Given the description of an element on the screen output the (x, y) to click on. 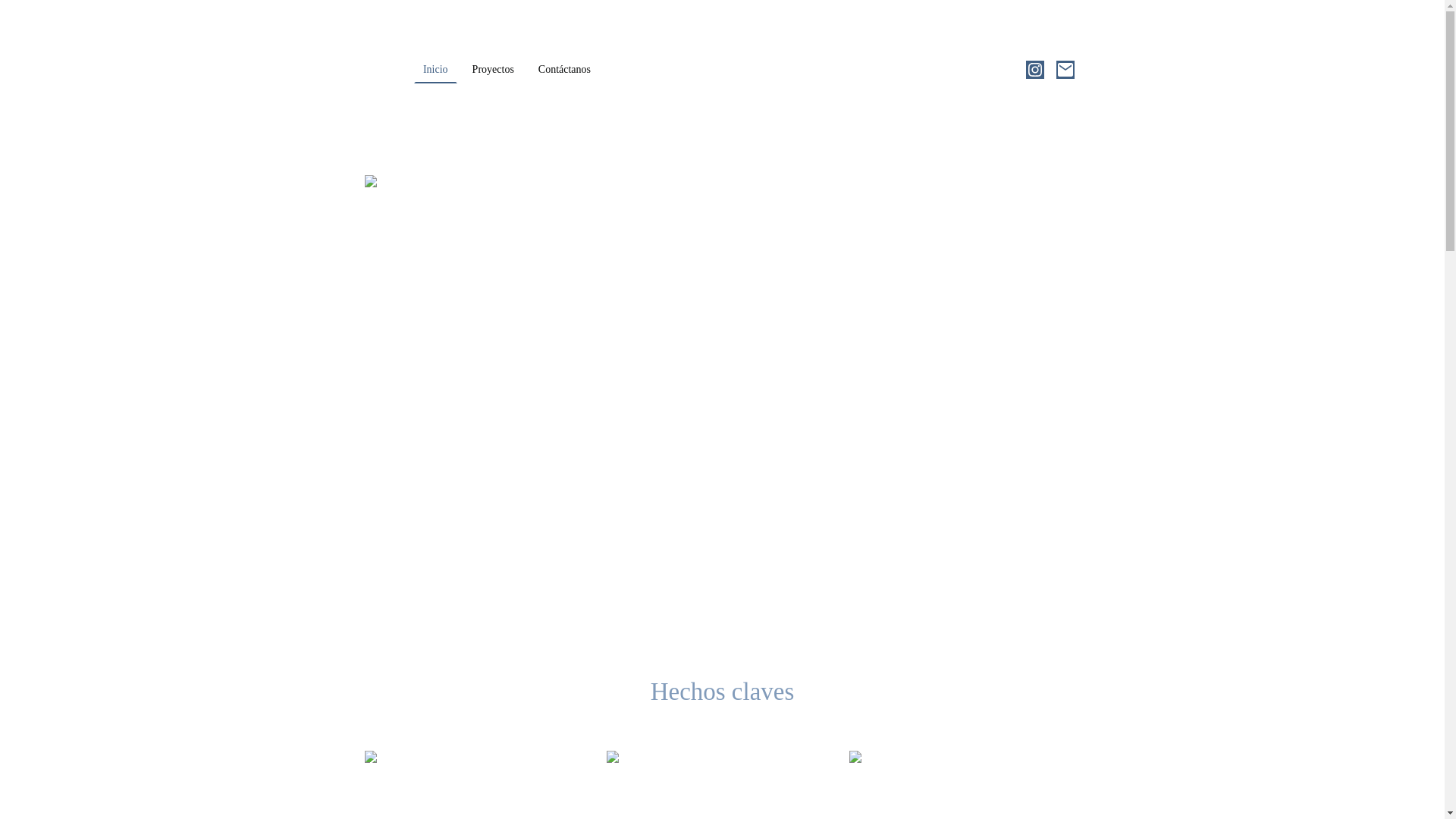
Proyectos Element type: text (492, 69)
Inicio Element type: text (435, 69)
